Given the description of an element on the screen output the (x, y) to click on. 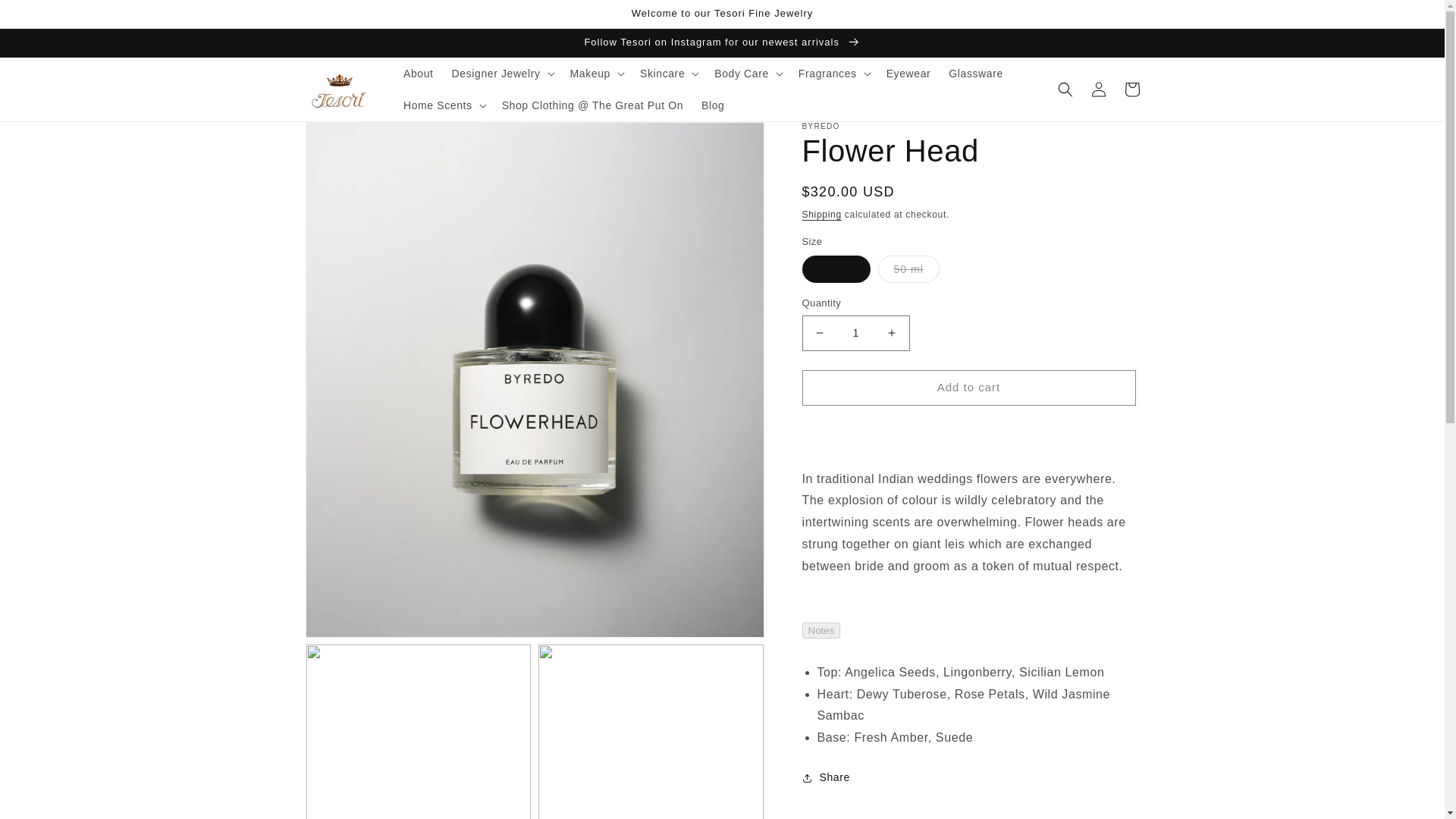
1 (856, 333)
Skip to content (45, 17)
